Given the description of an element on the screen output the (x, y) to click on. 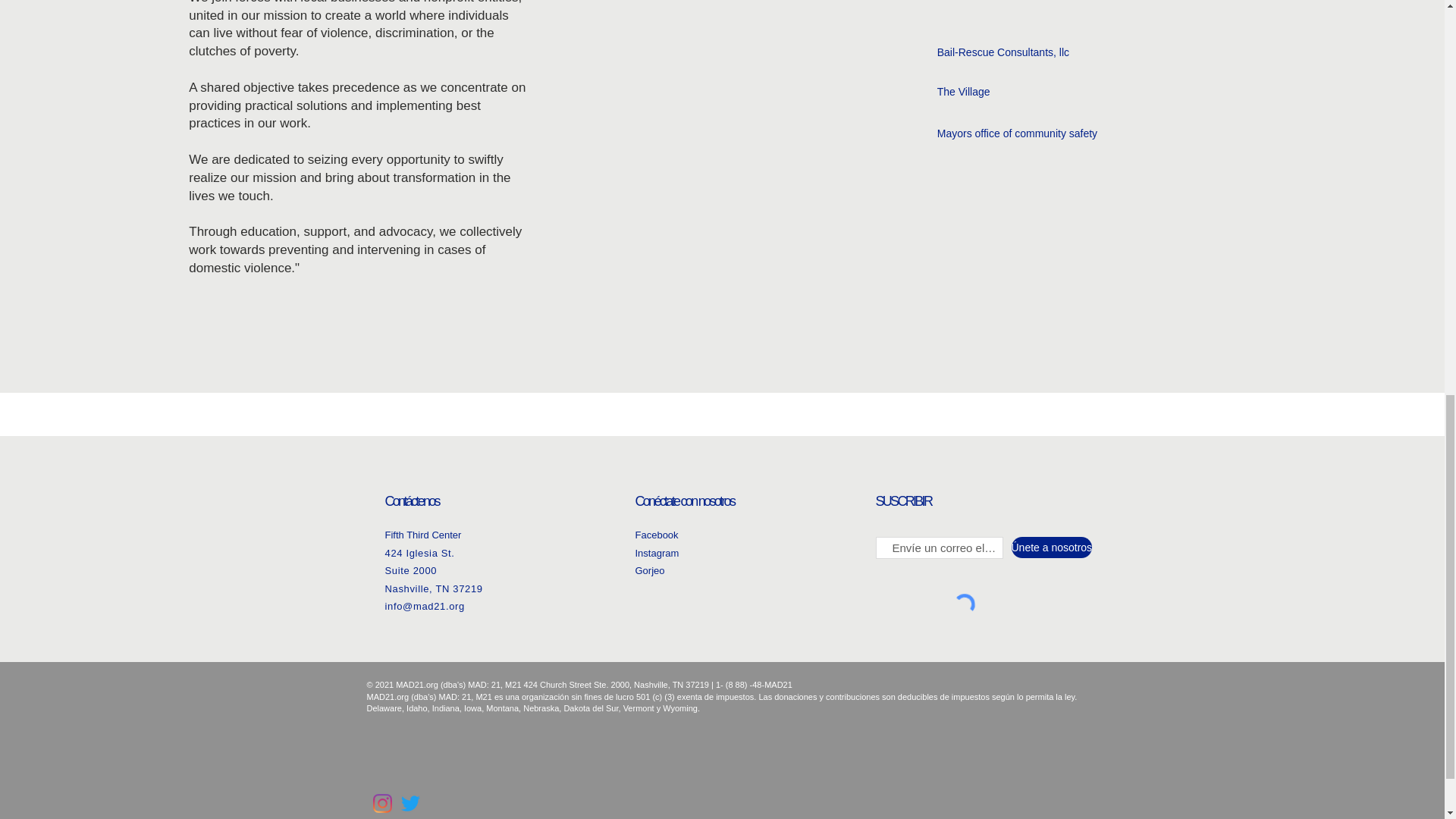
Facebook (656, 534)
Instagram (656, 552)
Gorjeo (649, 570)
